Given the description of an element on the screen output the (x, y) to click on. 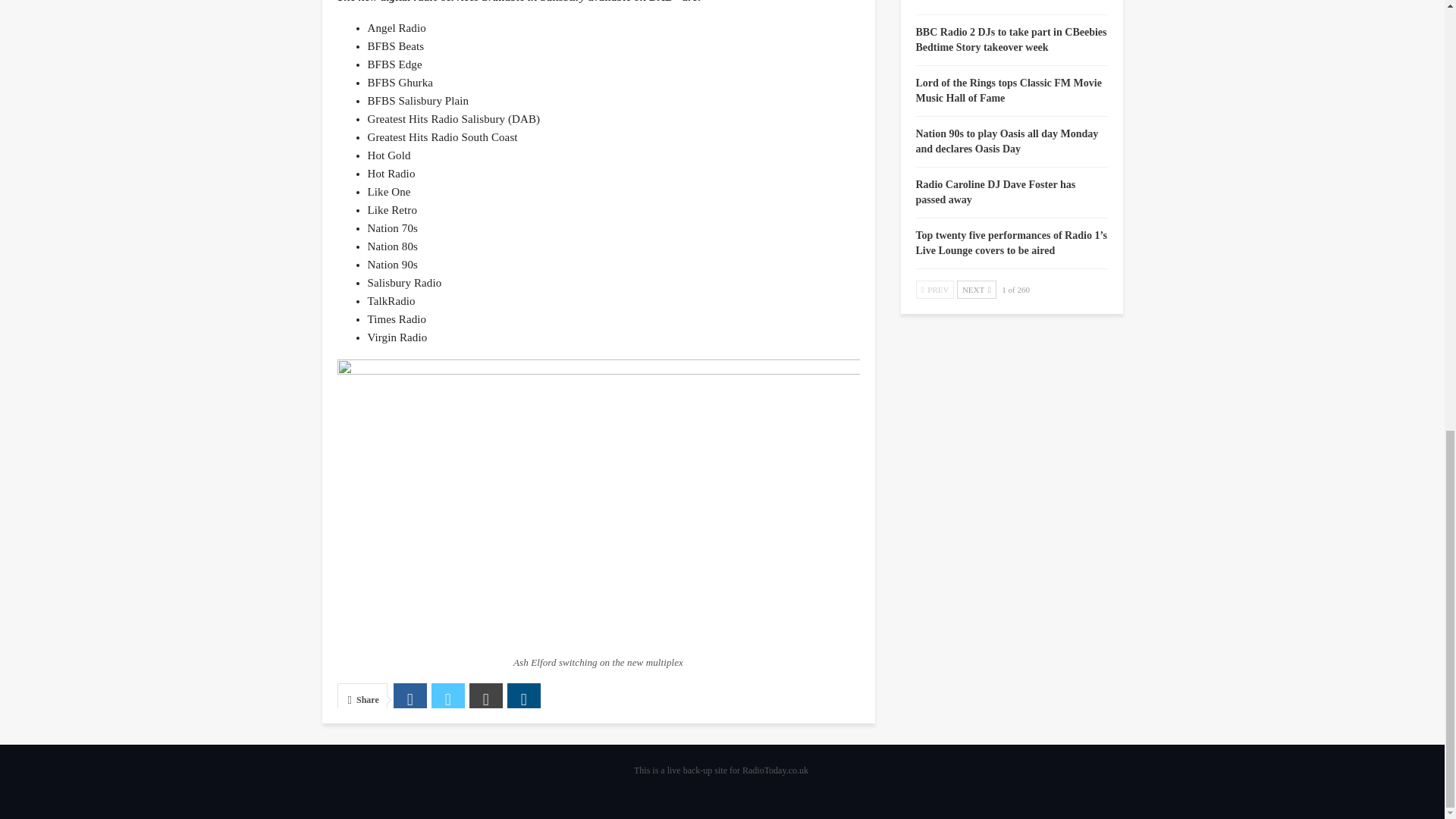
Previous (935, 289)
Lyca Radio partners singing reality show on Indian TV (1008, 1)
Lord of the Rings tops Classic FM Movie Music Hall of Fame (1008, 90)
Next (975, 289)
NEXT (975, 289)
Radio Caroline DJ Dave Foster has passed away (995, 192)
PREV (935, 289)
